Given the description of an element on the screen output the (x, y) to click on. 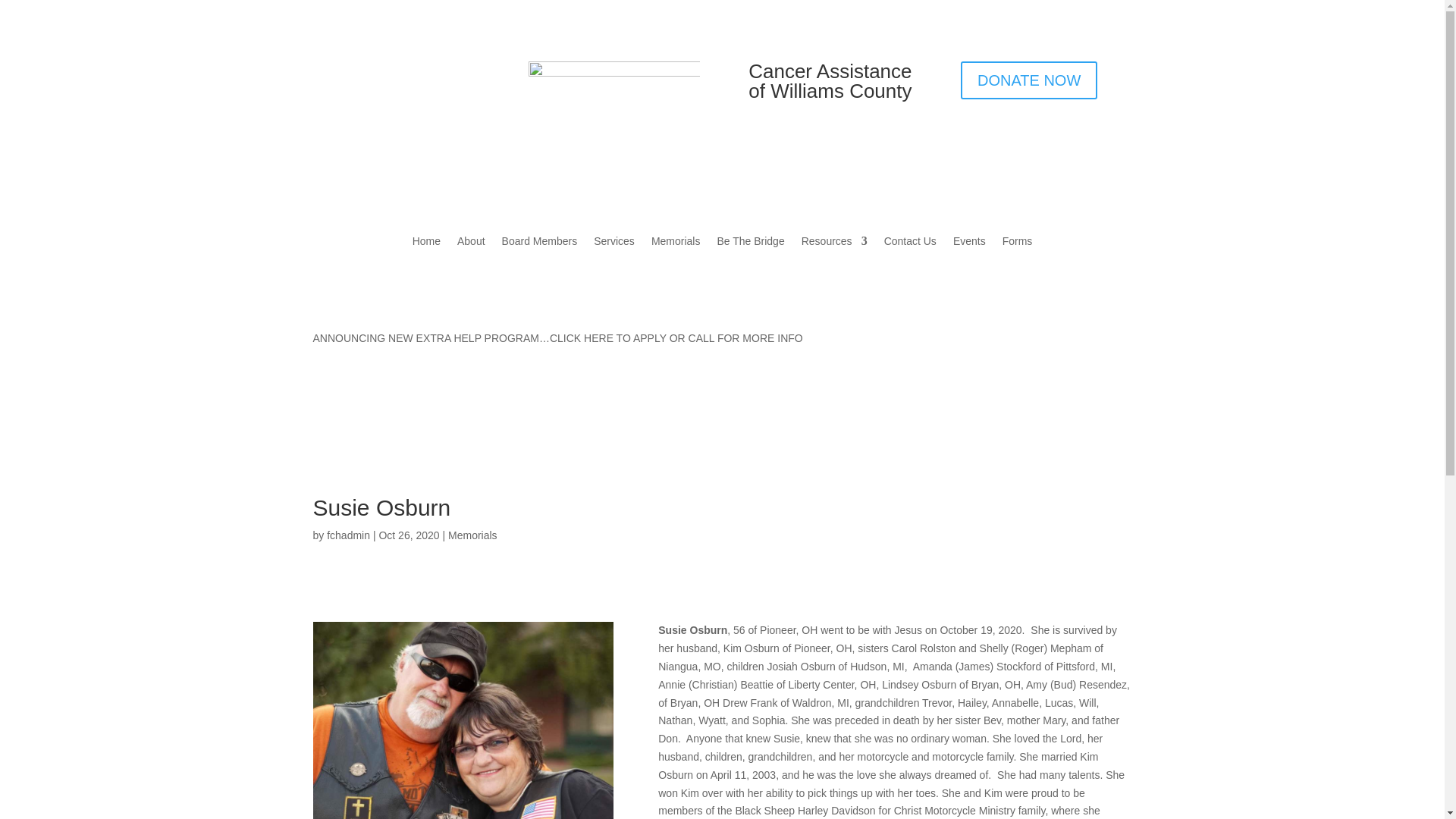
Memorials (472, 535)
Susie-and-Kim-Osburn (462, 720)
Services (614, 251)
Events (969, 251)
fchadmin (347, 535)
Forms (1017, 251)
Contact Us (909, 251)
Memorials (675, 251)
logo-300x155-transparent (613, 105)
Board Members (540, 251)
